Given the description of an element on the screen output the (x, y) to click on. 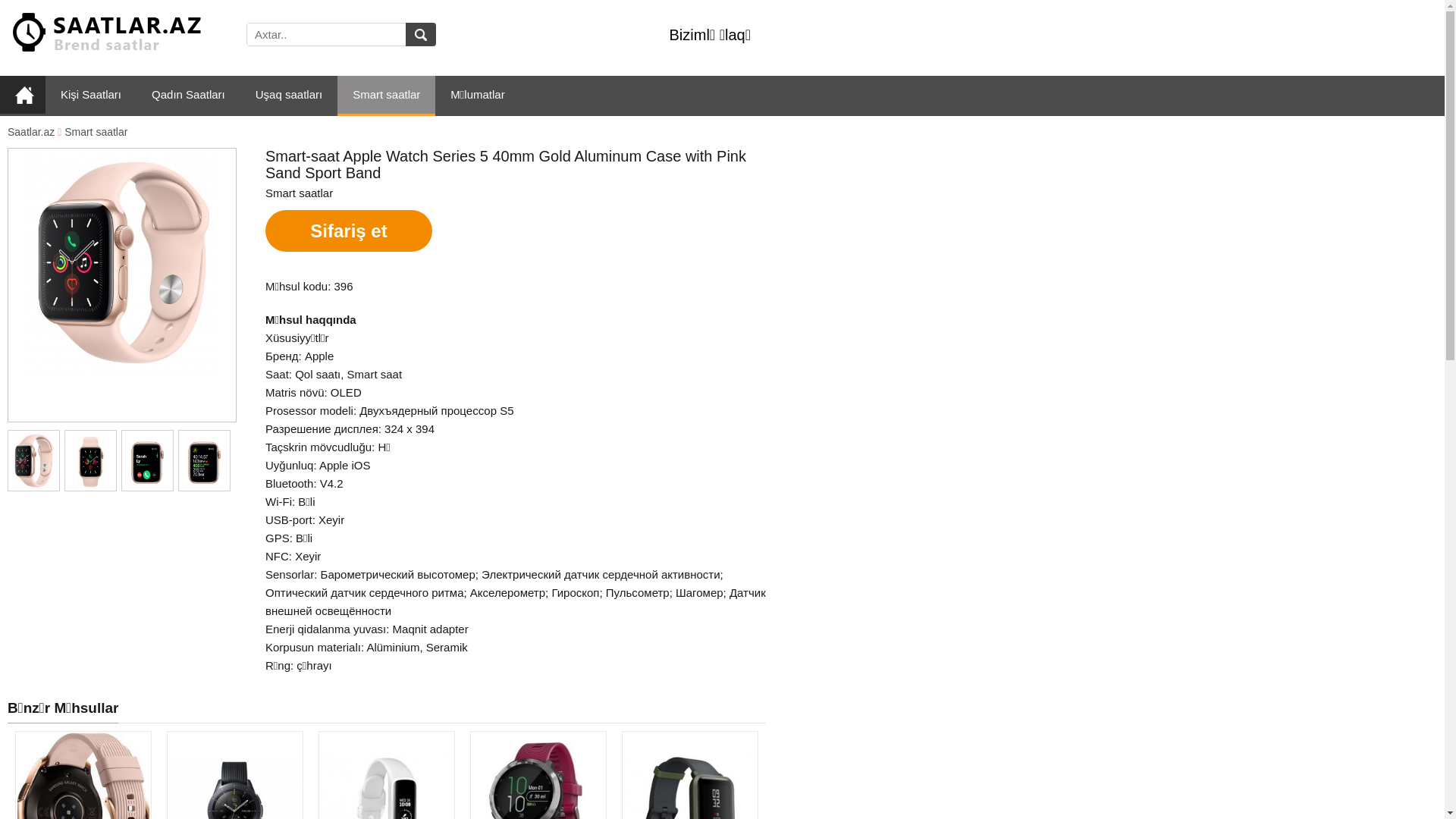
  Element type: text (420, 34)
Smart saatlar Element type: text (95, 131)
Saatlar.az Element type: text (30, 131)
Smart saatlar Element type: text (386, 95)
